Given the description of an element on the screen output the (x, y) to click on. 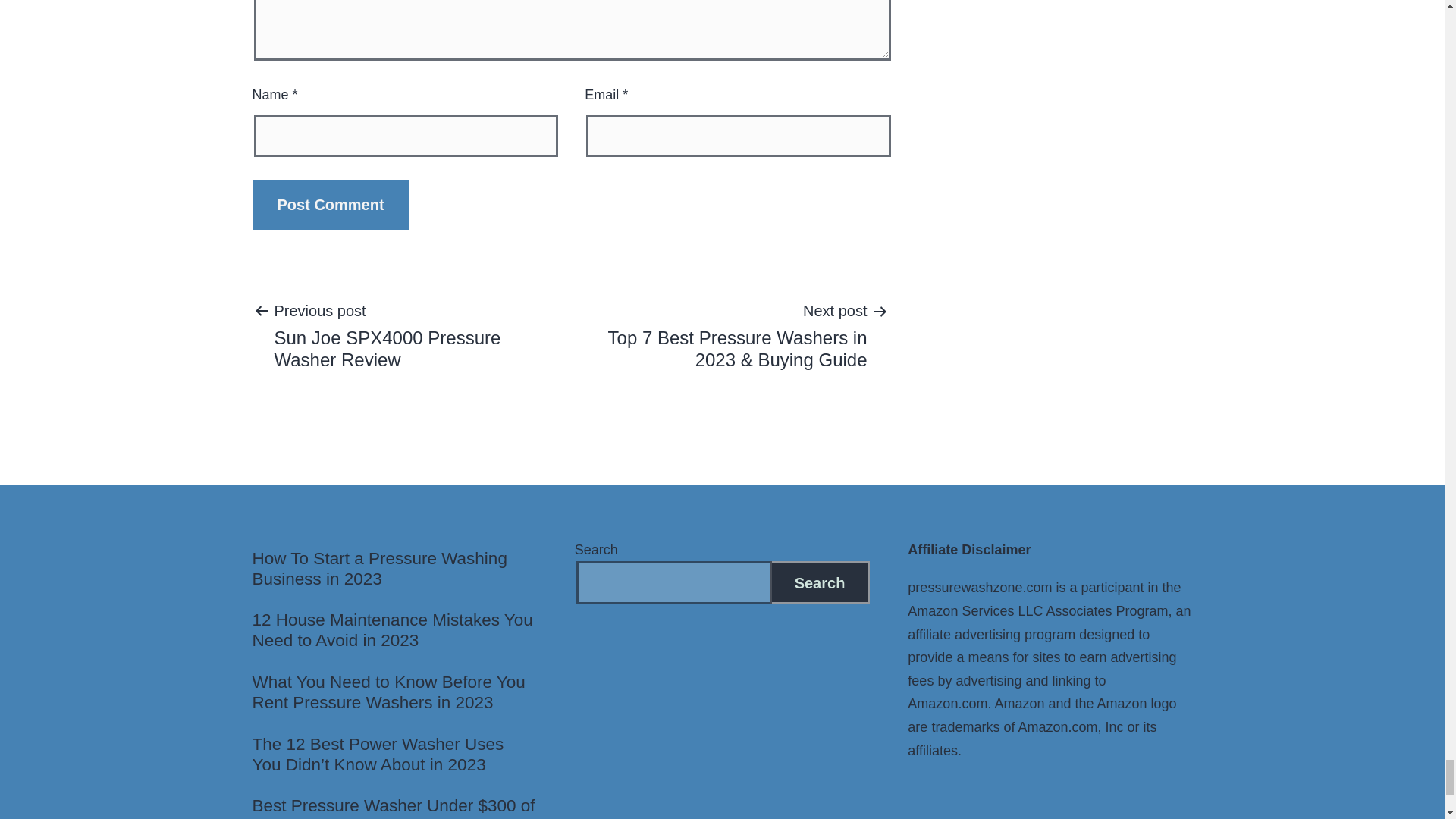
Post Comment (330, 204)
Post Comment (330, 204)
